Given the description of an element on the screen output the (x, y) to click on. 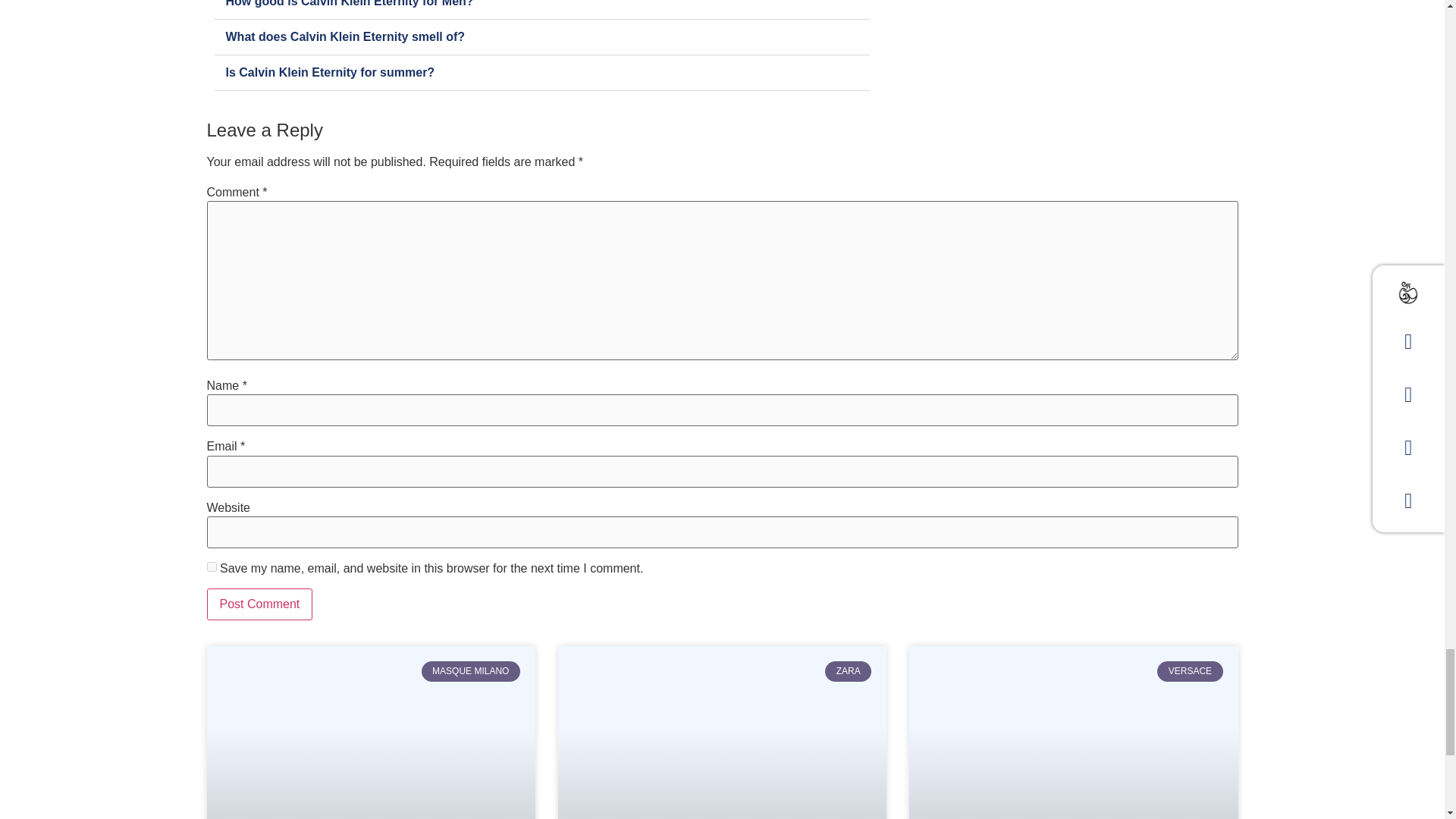
Post Comment (259, 603)
How good is Calvin Klein Eternity for Men? (349, 3)
yes (210, 566)
Post Comment (259, 603)
Is Calvin Klein Eternity for summer? (330, 72)
What does Calvin Klein Eternity smell of? (345, 36)
